Given the description of an element on the screen output the (x, y) to click on. 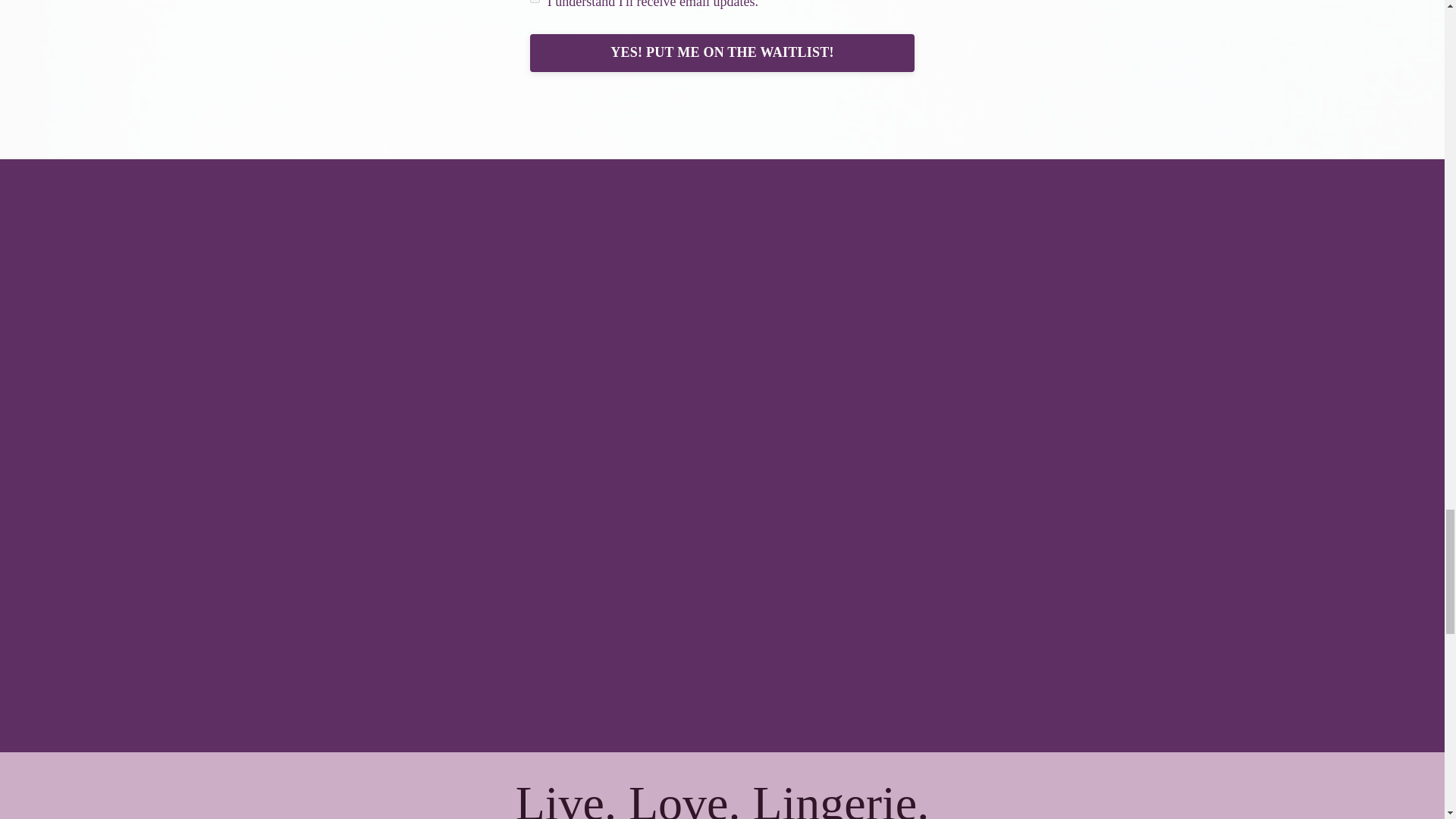
1 (534, 1)
YES! PUT ME ON THE WAITLIST! (722, 53)
